Given the description of an element on the screen output the (x, y) to click on. 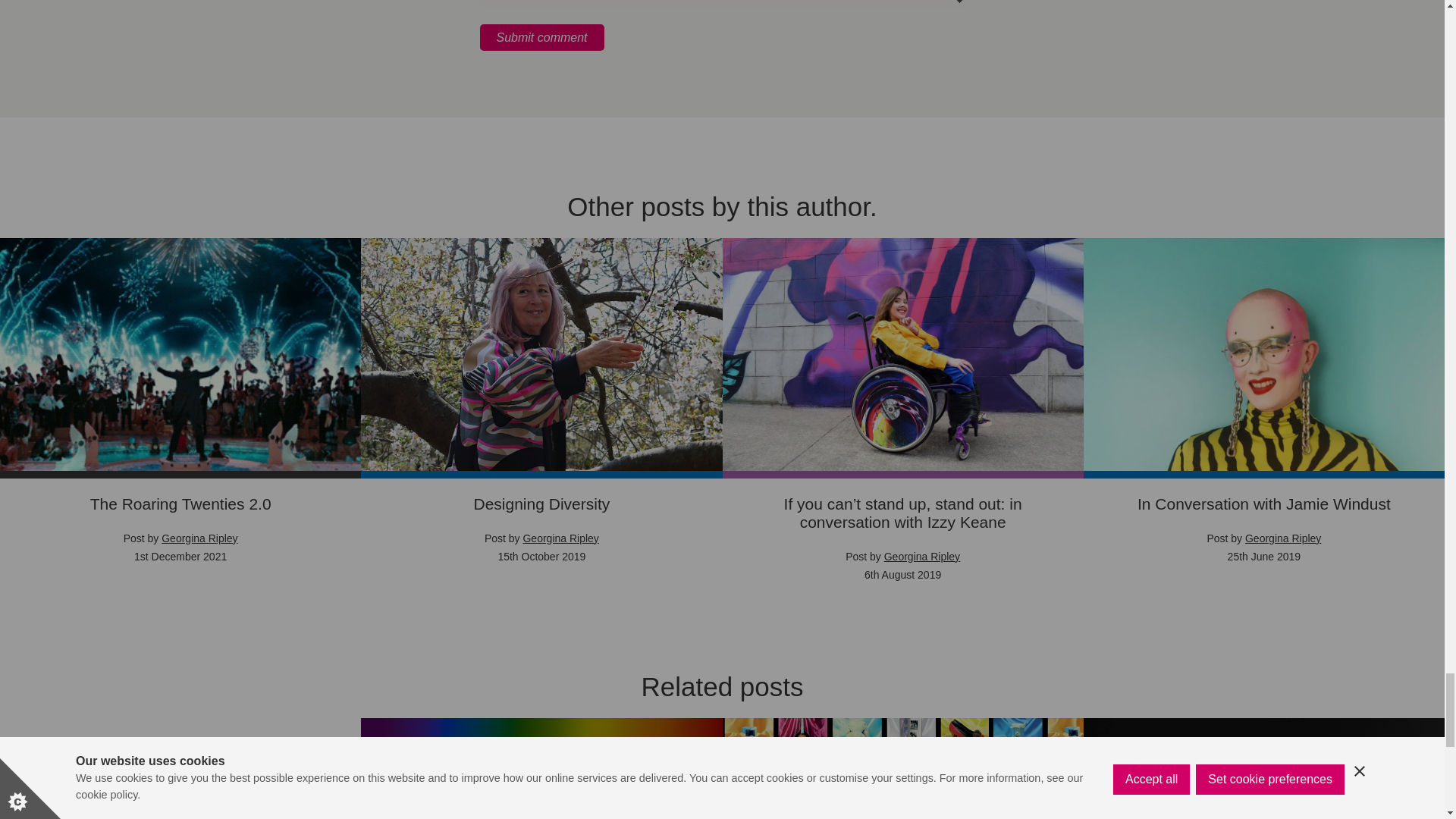
Posts by Georgina Ripley (1282, 538)
Posts by Georgina Ripley (921, 556)
Posts by Georgina Ripley (560, 538)
Submit comment (541, 37)
Posts by Georgina Ripley (199, 538)
